Given the description of an element on the screen output the (x, y) to click on. 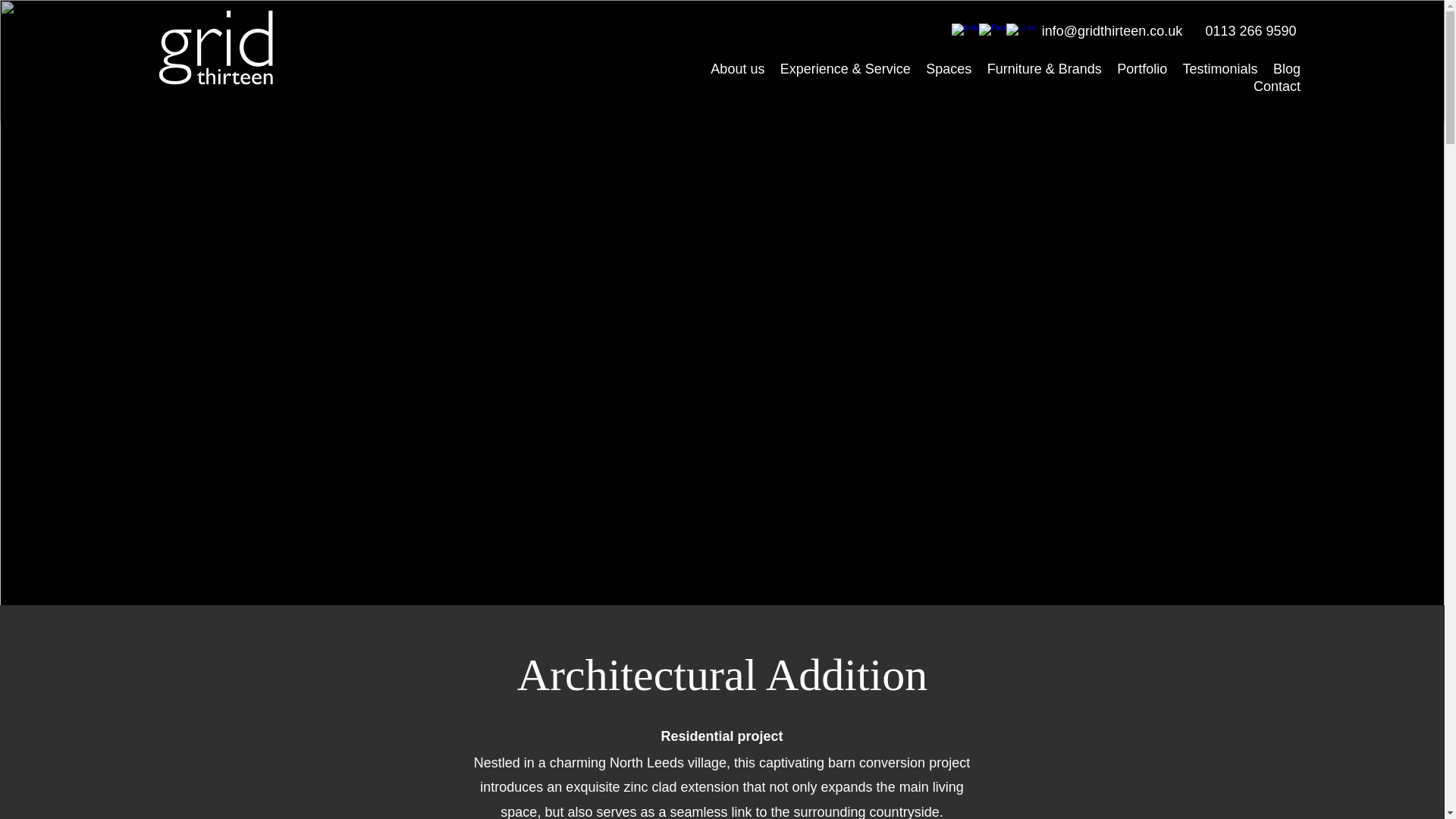
0113 266 9590 (1250, 31)
Spaces (948, 69)
About us (737, 69)
